Given the description of an element on the screen output the (x, y) to click on. 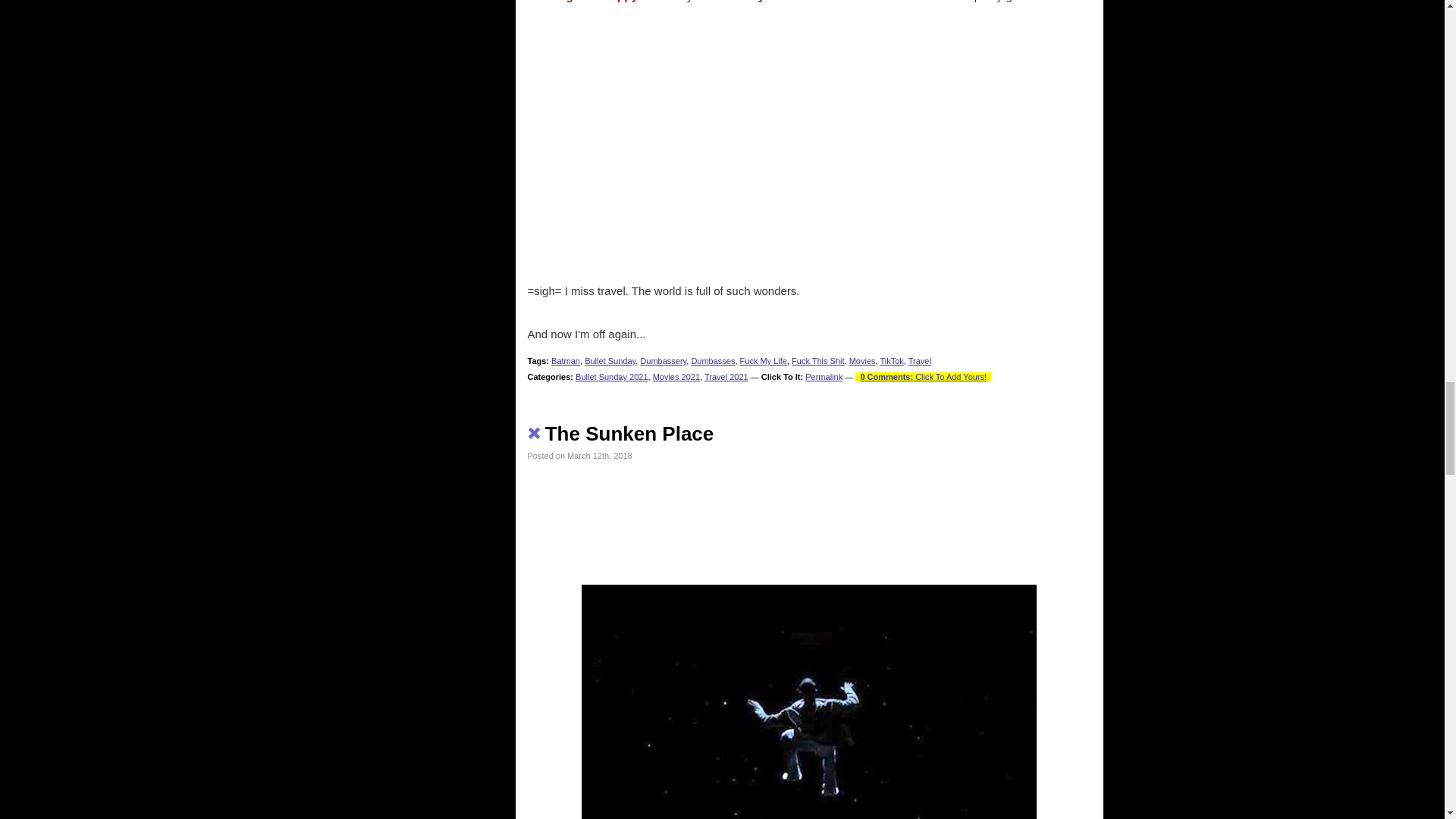
Batman (565, 360)
Bullet Sunday (609, 360)
Dumbassery (662, 360)
Dumbasses (712, 360)
